Given the description of an element on the screen output the (x, y) to click on. 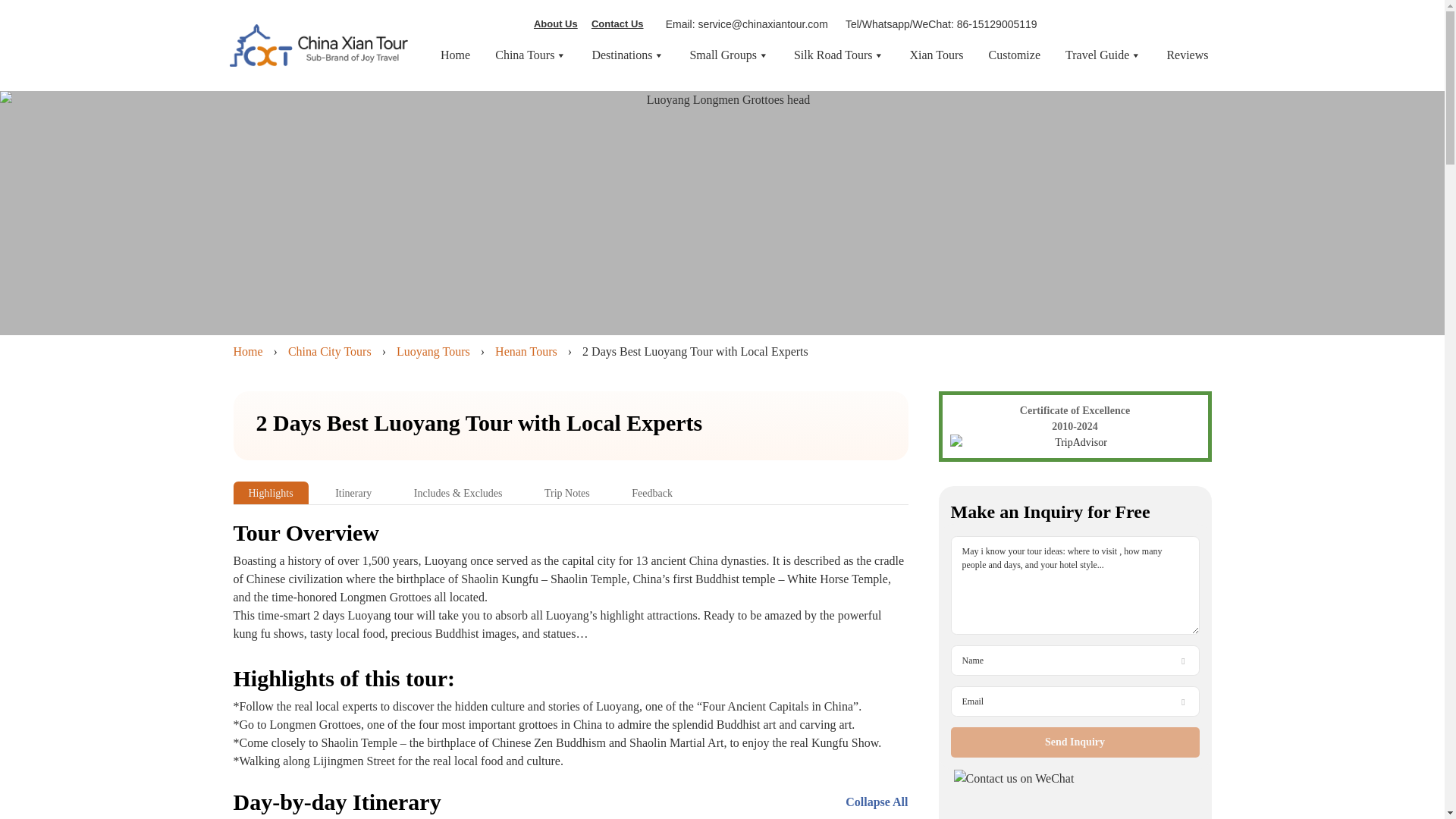
Home (455, 55)
China Tours (530, 55)
About Us (556, 23)
Contact Us (617, 23)
Home (247, 350)
Destinations (627, 55)
Luoyang Tours (433, 350)
China City Tours (329, 350)
Henan Tours (526, 350)
Send Inquiry (1074, 742)
86-15129005119 (996, 24)
